Given the description of an element on the screen output the (x, y) to click on. 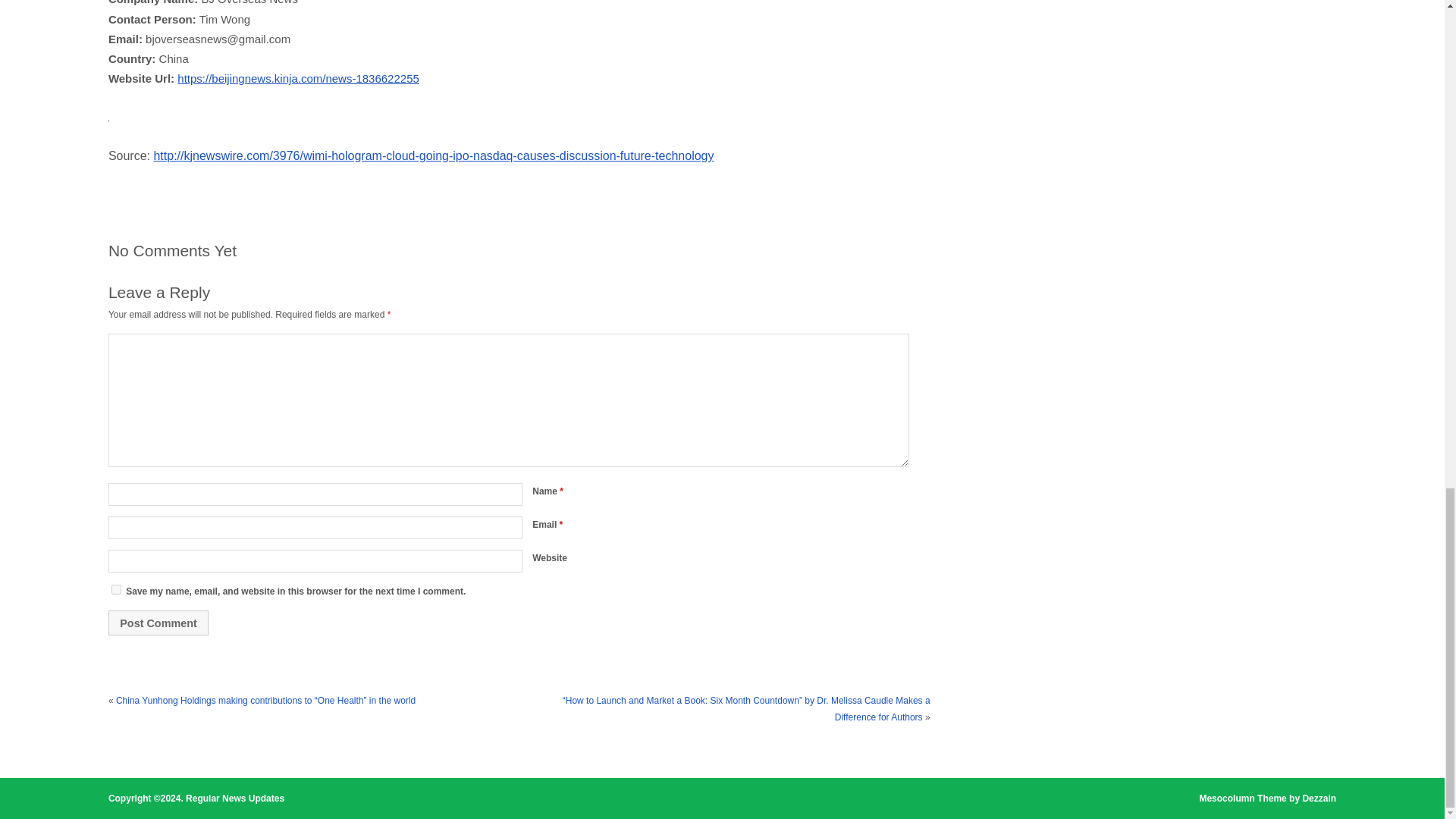
yes (116, 589)
Post Comment (157, 622)
Post Comment (157, 622)
